Given the description of an element on the screen output the (x, y) to click on. 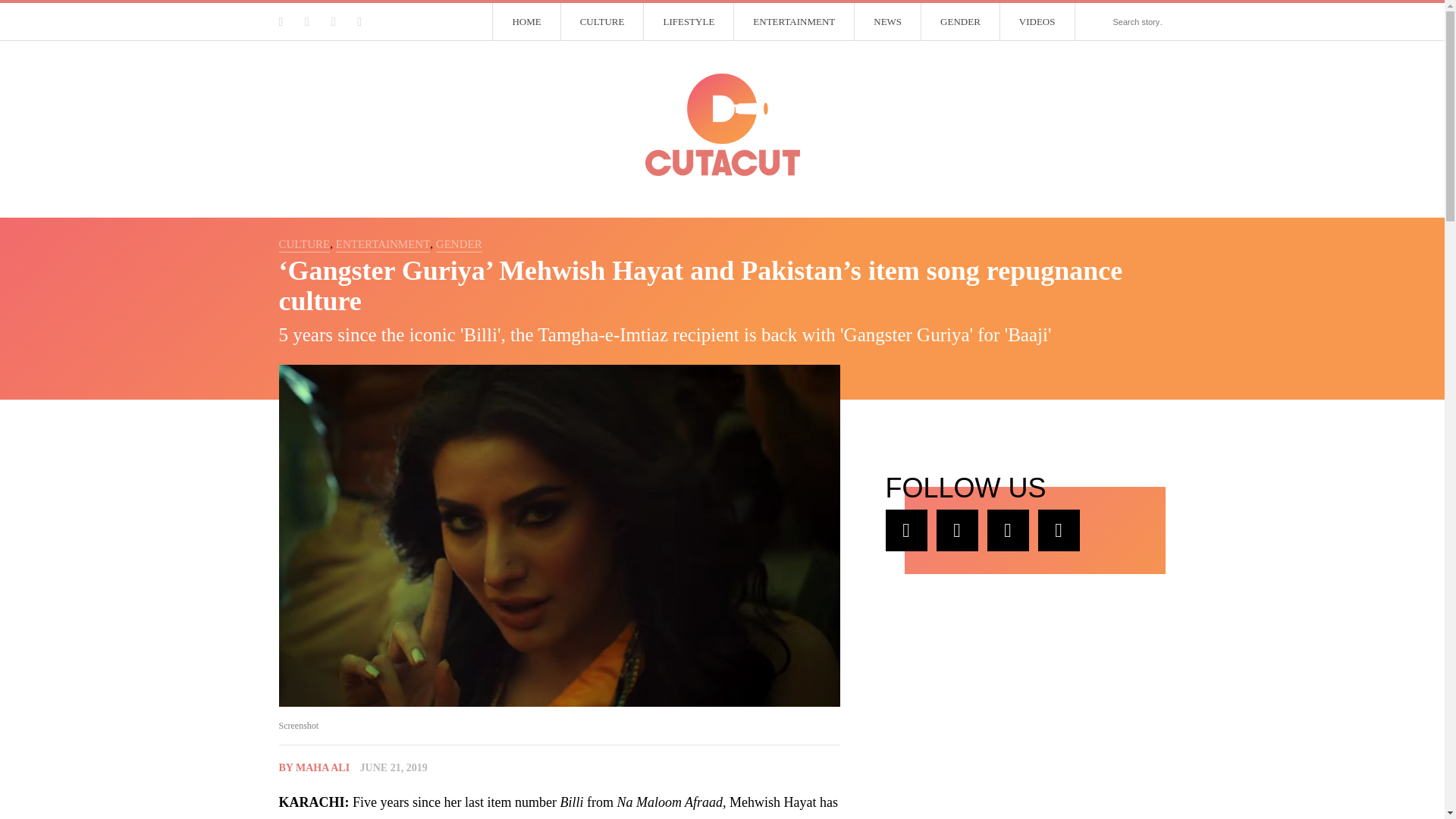
ENTERTAINMENT (383, 244)
CULTURE (304, 244)
GENDER (458, 244)
GENDER (960, 21)
LIFESTYLE (688, 21)
BY MAHA ALI (314, 767)
ENTERTAINMENT (793, 21)
CULTURE (602, 21)
NEWS (887, 21)
VIDEOS (1037, 21)
HOME (526, 21)
